Given the description of an element on the screen output the (x, y) to click on. 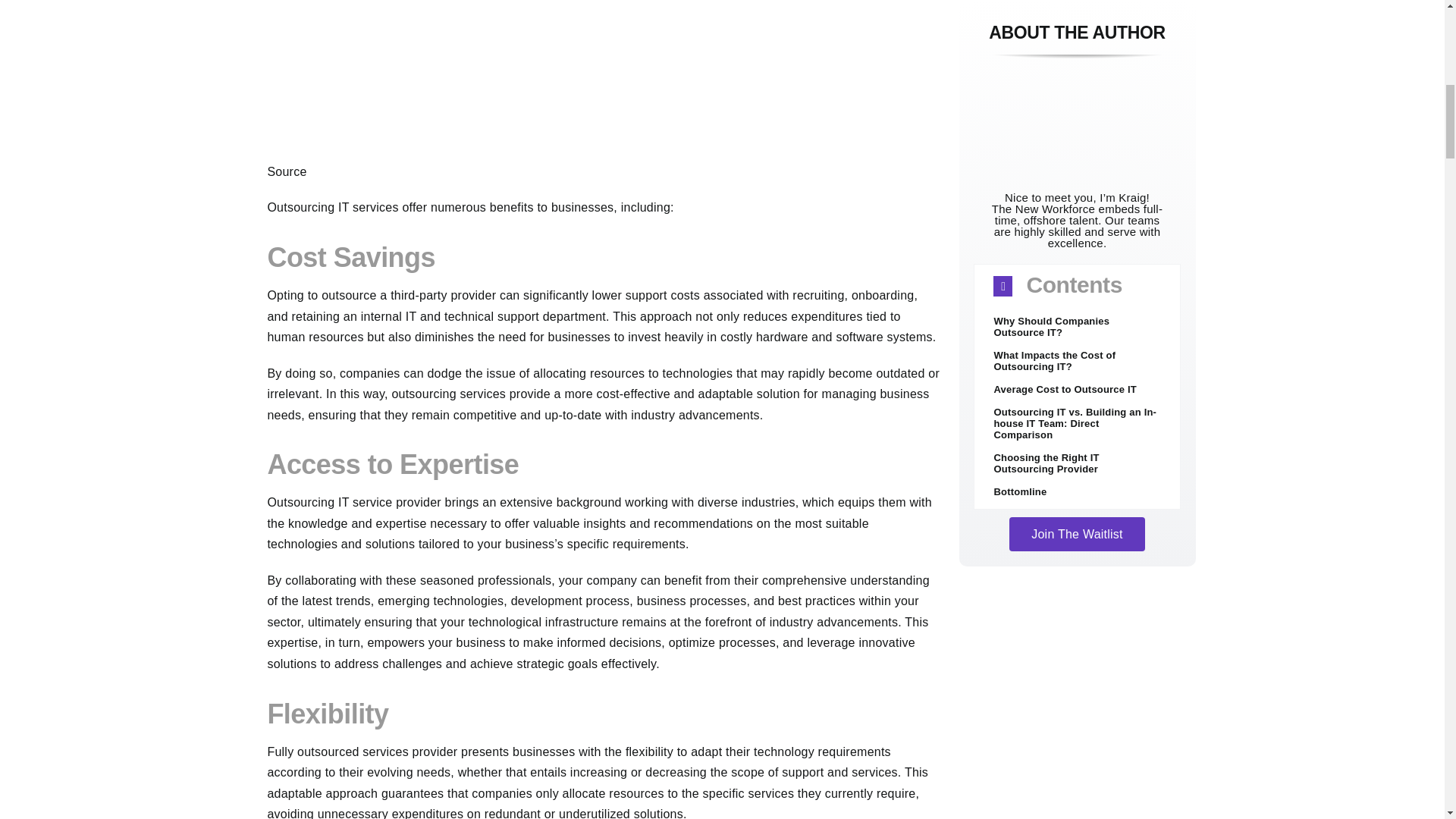
image 1 (603, 80)
Source (285, 171)
